Given the description of an element on the screen output the (x, y) to click on. 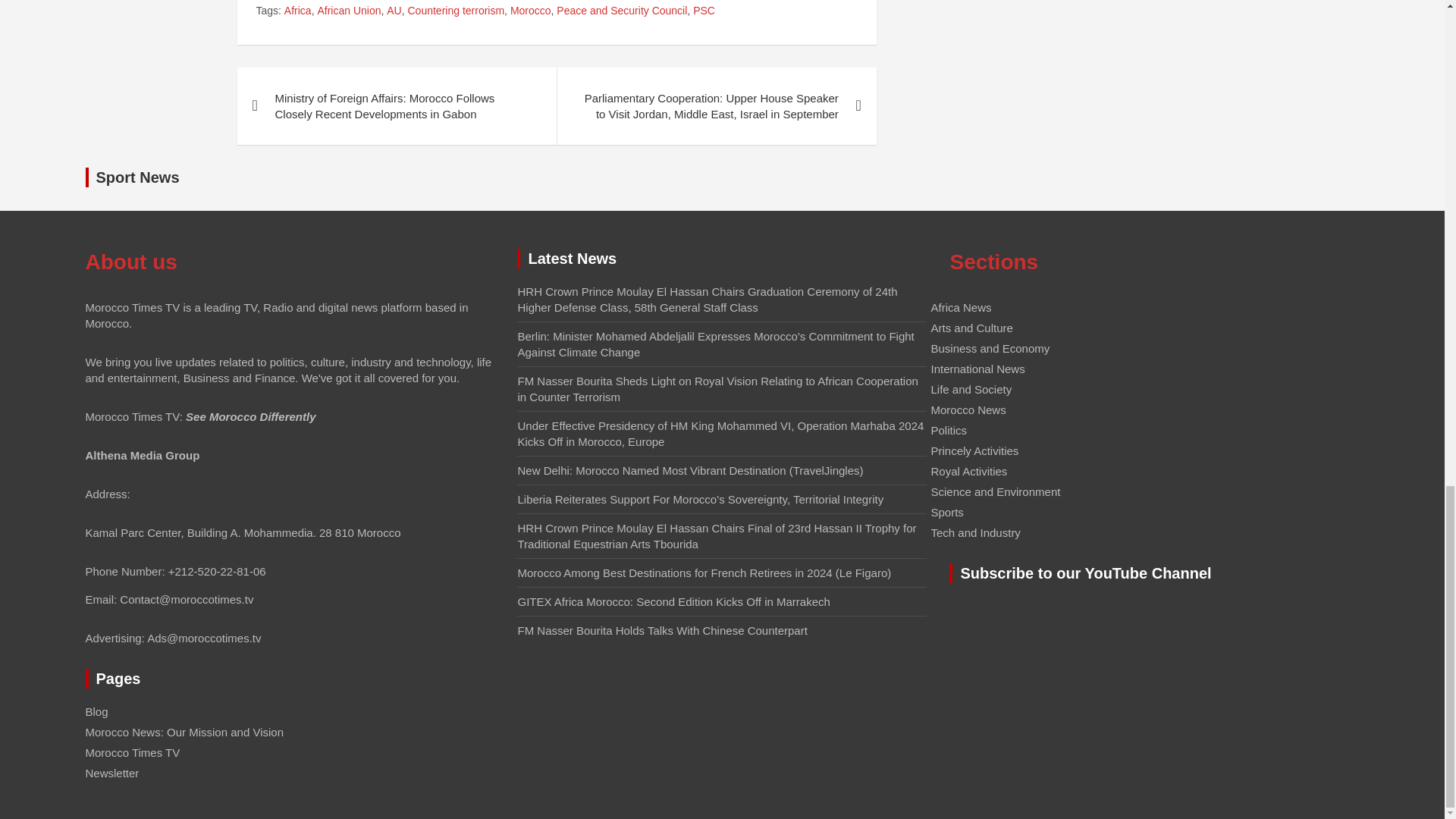
Peace and Security Council (621, 11)
Africa (297, 11)
Countering terrorism (456, 11)
PSC (703, 11)
AU (394, 11)
Morocco (531, 11)
African Union (348, 11)
